Given the description of an element on the screen output the (x, y) to click on. 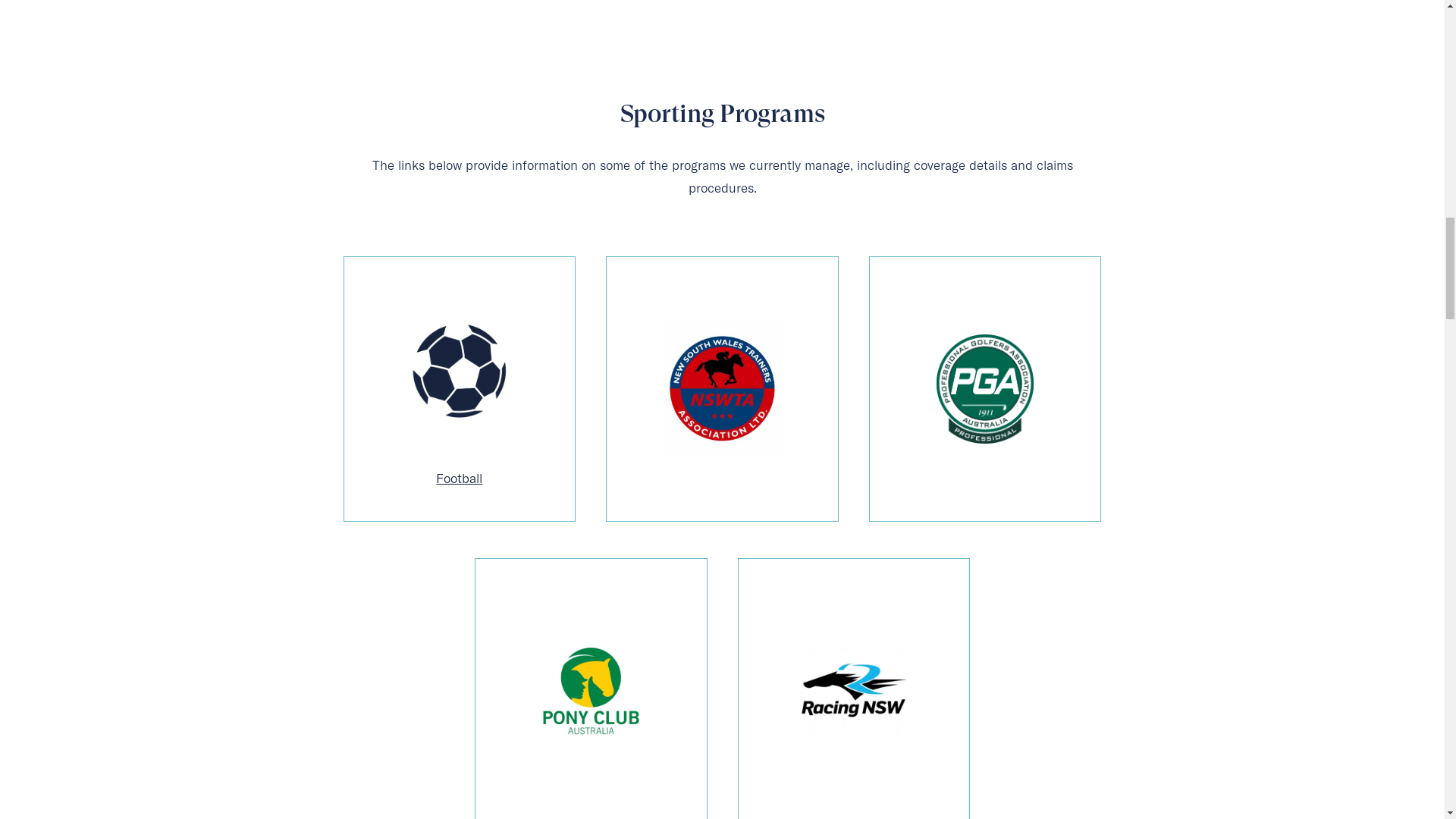
CLAIMS Element type: text (1036, 32)
ABOUT US Element type: text (1135, 32)
INSIGHTS Element type: text (946, 32)
INDUSTRIES Element type: text (836, 32)
SERVICES Element type: text (719, 32)
